Given the description of an element on the screen output the (x, y) to click on. 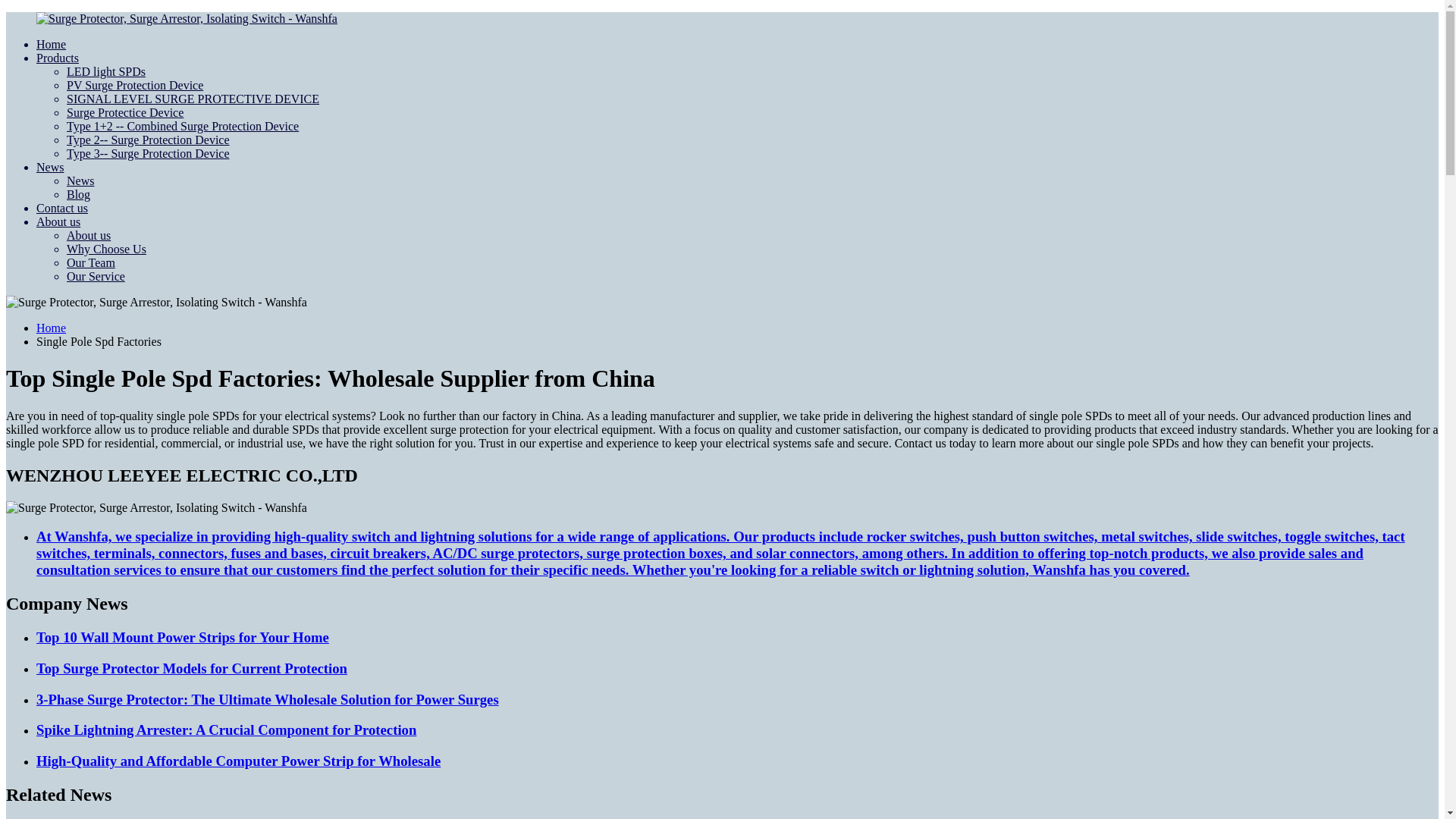
LED light SPDs (105, 71)
PV Surge Protection Device (134, 84)
Blog (78, 194)
SIGNAL LEVEL SURGE PROTECTIVE DEVICE (192, 98)
Home (50, 43)
Type 3-- Surge Protection Device (148, 153)
Type 2-- Surge Protection Device (148, 139)
About us (58, 221)
Home (50, 327)
Surge Protectice Device (124, 112)
